Given the description of an element on the screen output the (x, y) to click on. 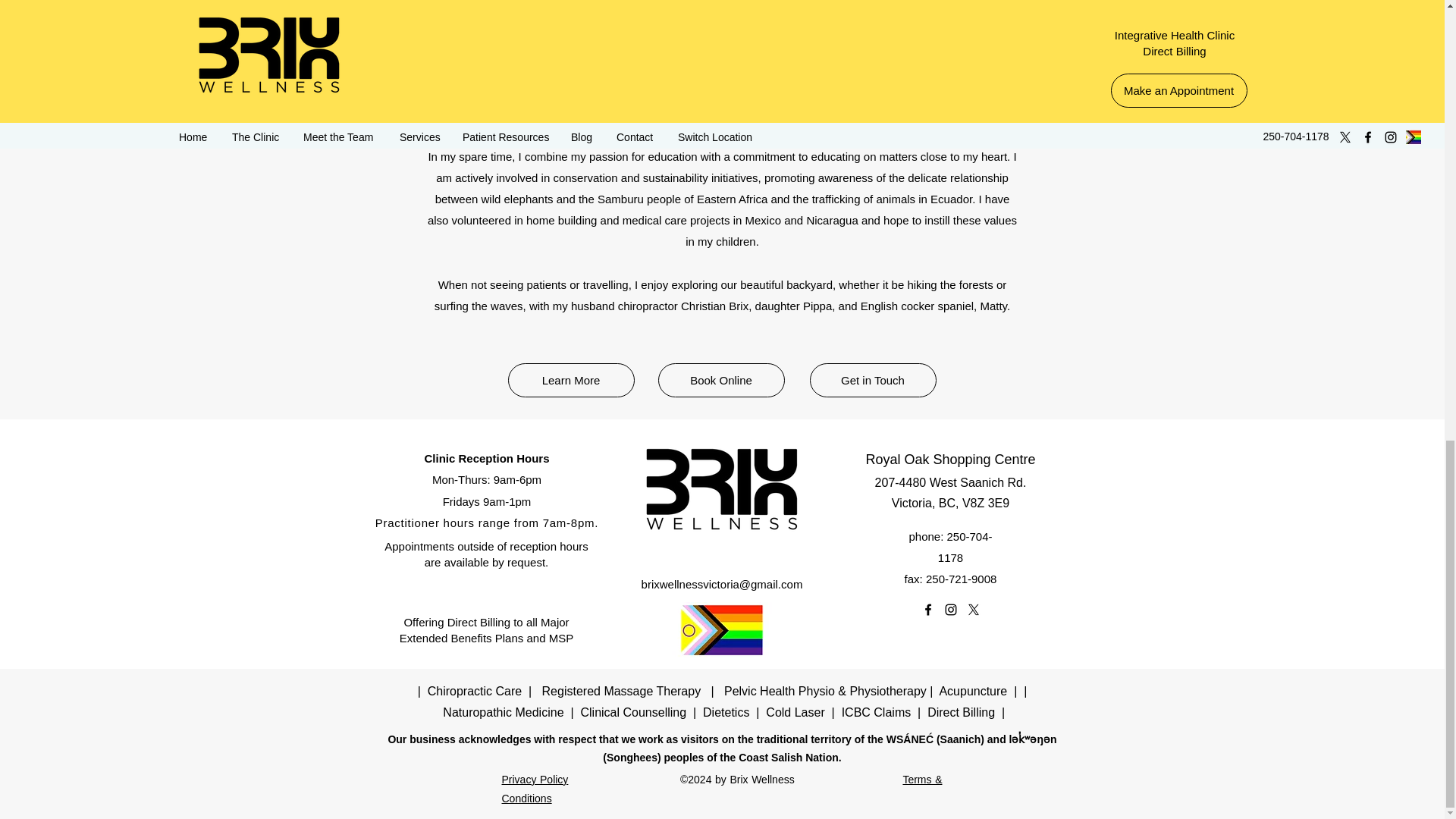
progress-pride-2021.jpg (721, 629)
Book Online (721, 380)
Royal Oak Shopping Centre (949, 459)
phone: 250-704-1178 (949, 546)
Victoria, BC, V8Z 3E9 (950, 502)
Learn More (571, 380)
207-4480 West Saanich Rd. (950, 481)
Get in Touch (872, 380)
